Given the description of an element on the screen output the (x, y) to click on. 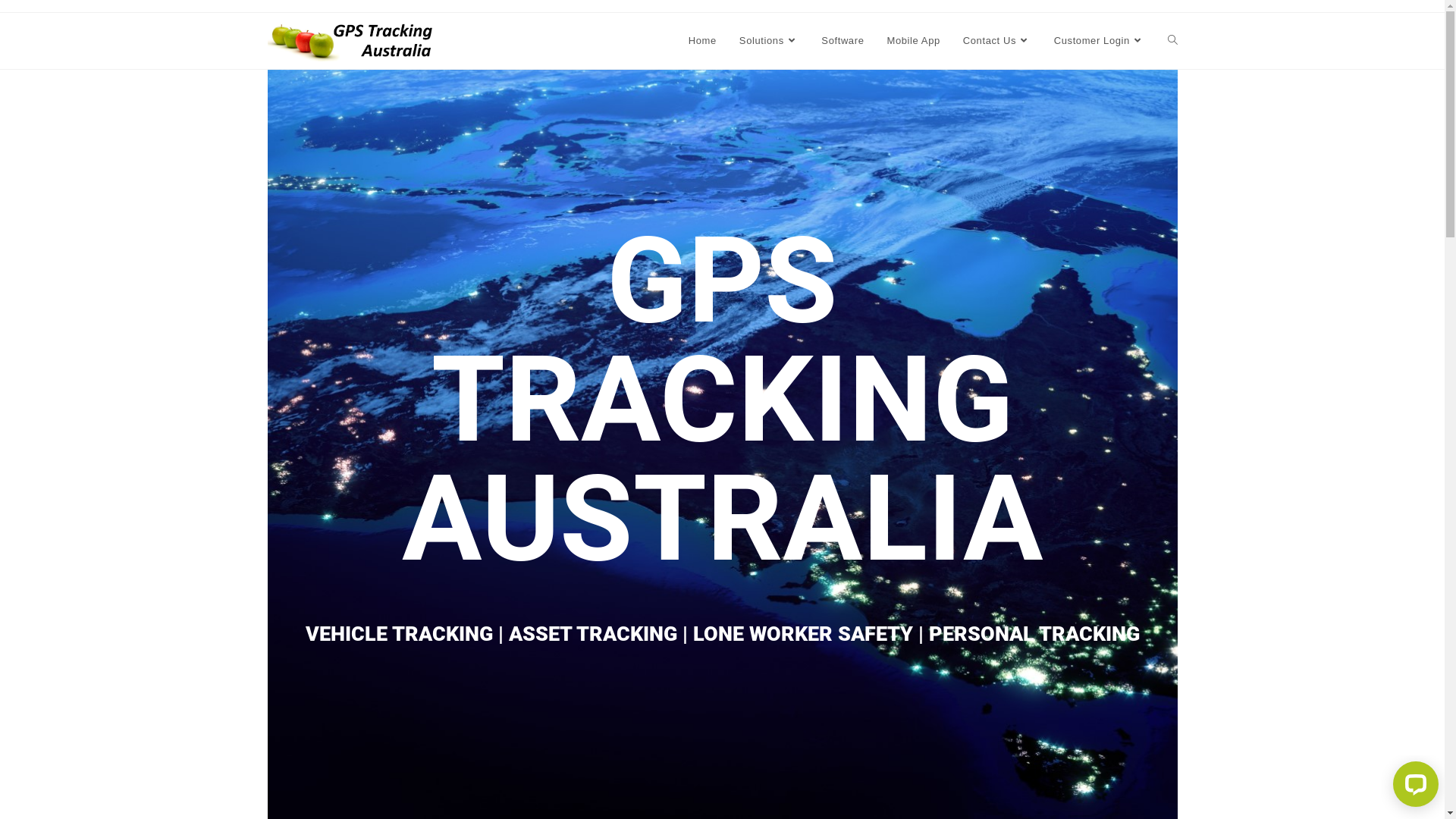
Solutions Element type: text (769, 40)
Software Element type: text (842, 40)
Contact Us Element type: text (996, 40)
Home Element type: text (702, 40)
Mobile App Element type: text (912, 40)
Customer Login Element type: text (1099, 40)
